Given the description of an element on the screen output the (x, y) to click on. 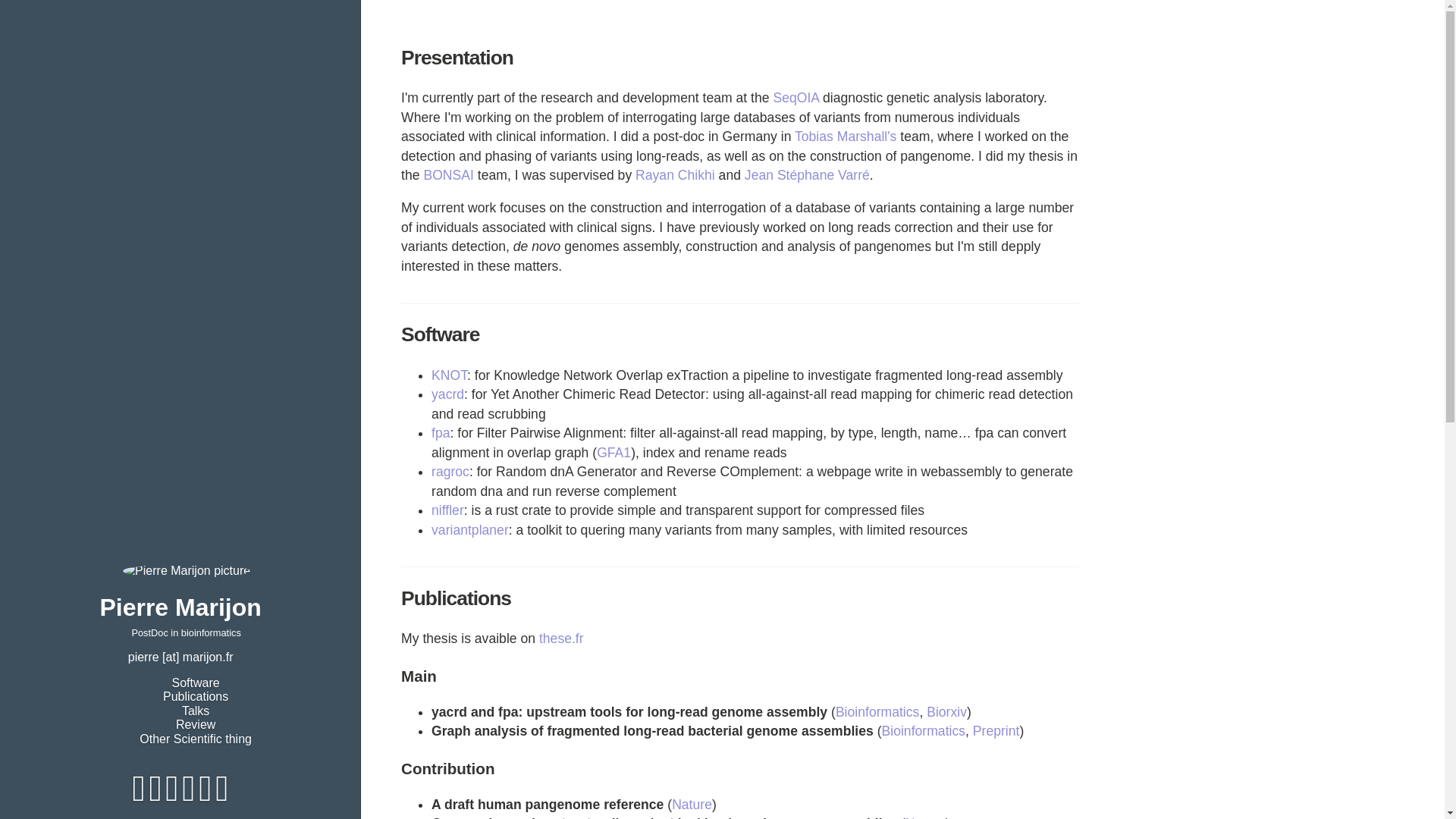
SeqOIA (795, 97)
Bioinformatics (877, 711)
Bioinformatics (924, 730)
Biorxiv (946, 711)
Nature (924, 817)
Nature (691, 804)
Review (195, 724)
Other Scientific thing (195, 738)
fpa (439, 432)
these.fr (560, 638)
